Given the description of an element on the screen output the (x, y) to click on. 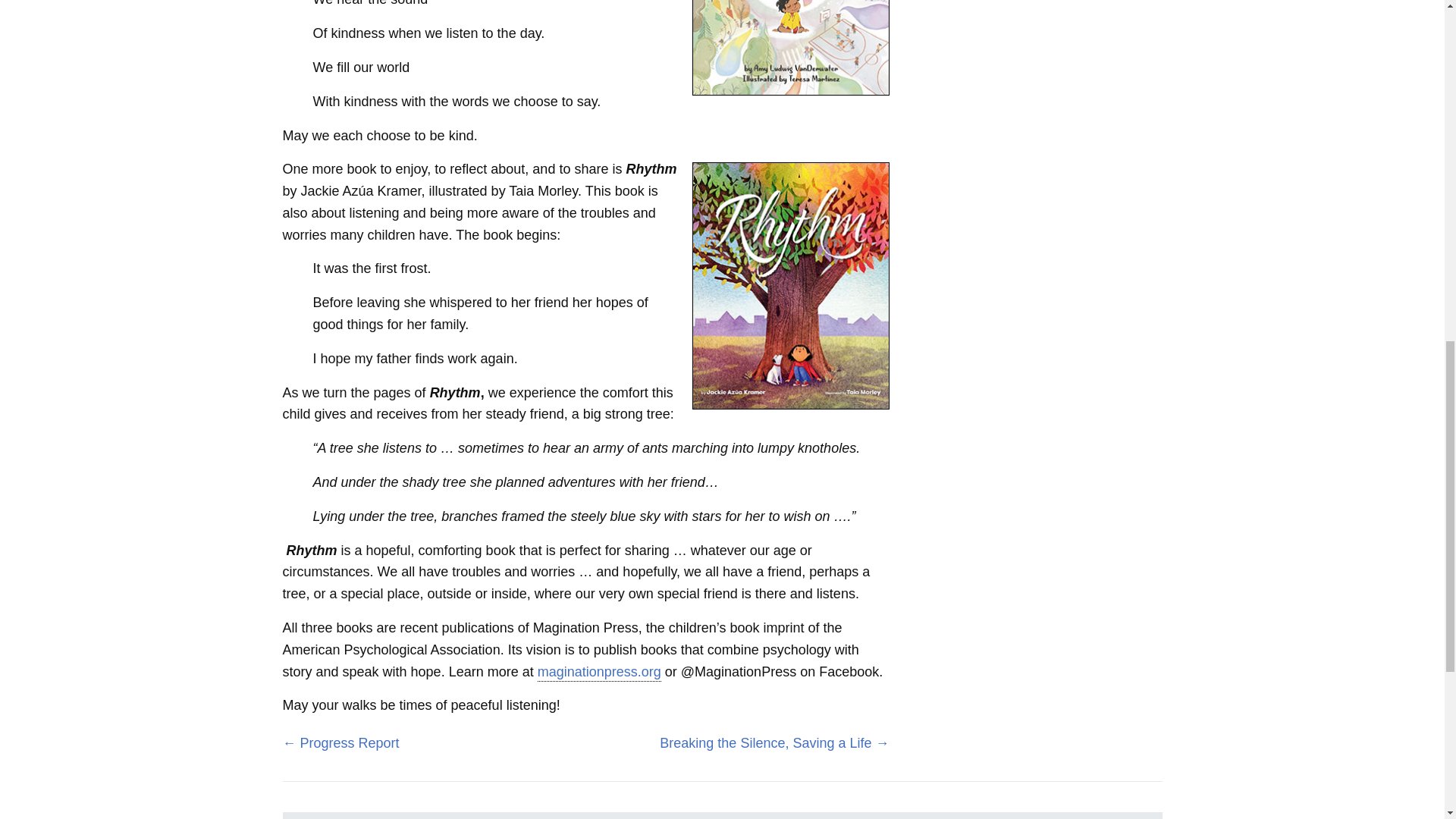
maginationpress.org (599, 672)
